Given the description of an element on the screen output the (x, y) to click on. 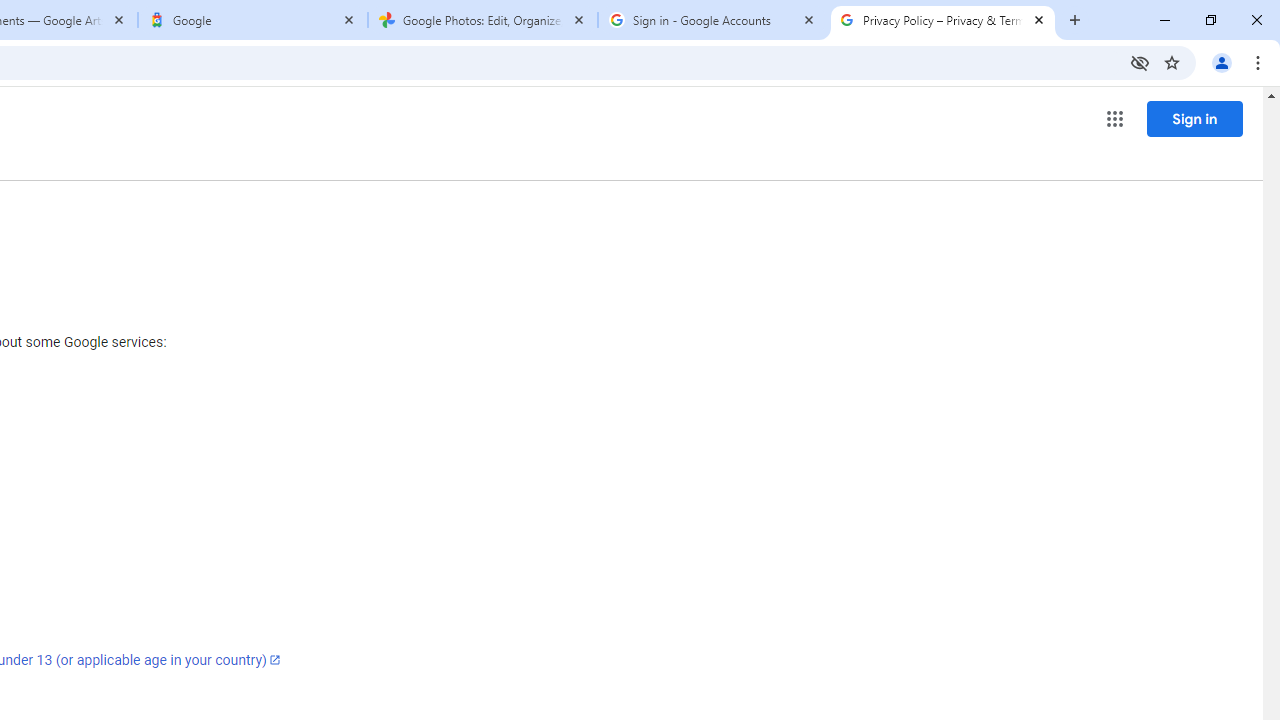
Google (253, 20)
Sign in - Google Accounts (712, 20)
